Given the description of an element on the screen output the (x, y) to click on. 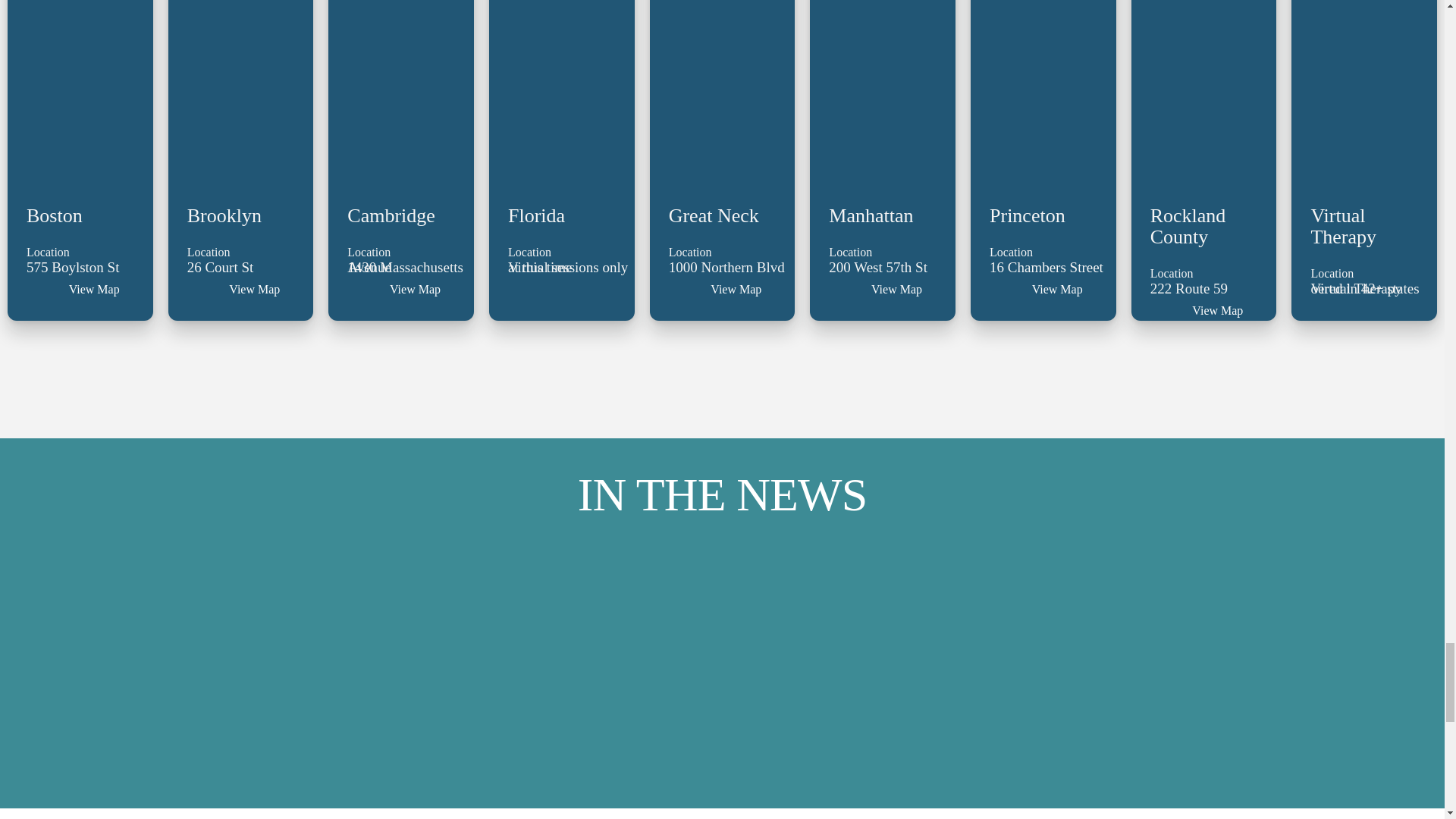
New-York-Times-logo-630x198 (1069, 713)
logo-seo.b626400cb715bc3410ea14c414027b00ad5acdc0 (591, 601)
gq-logo (722, 712)
